Given the description of an element on the screen output the (x, y) to click on. 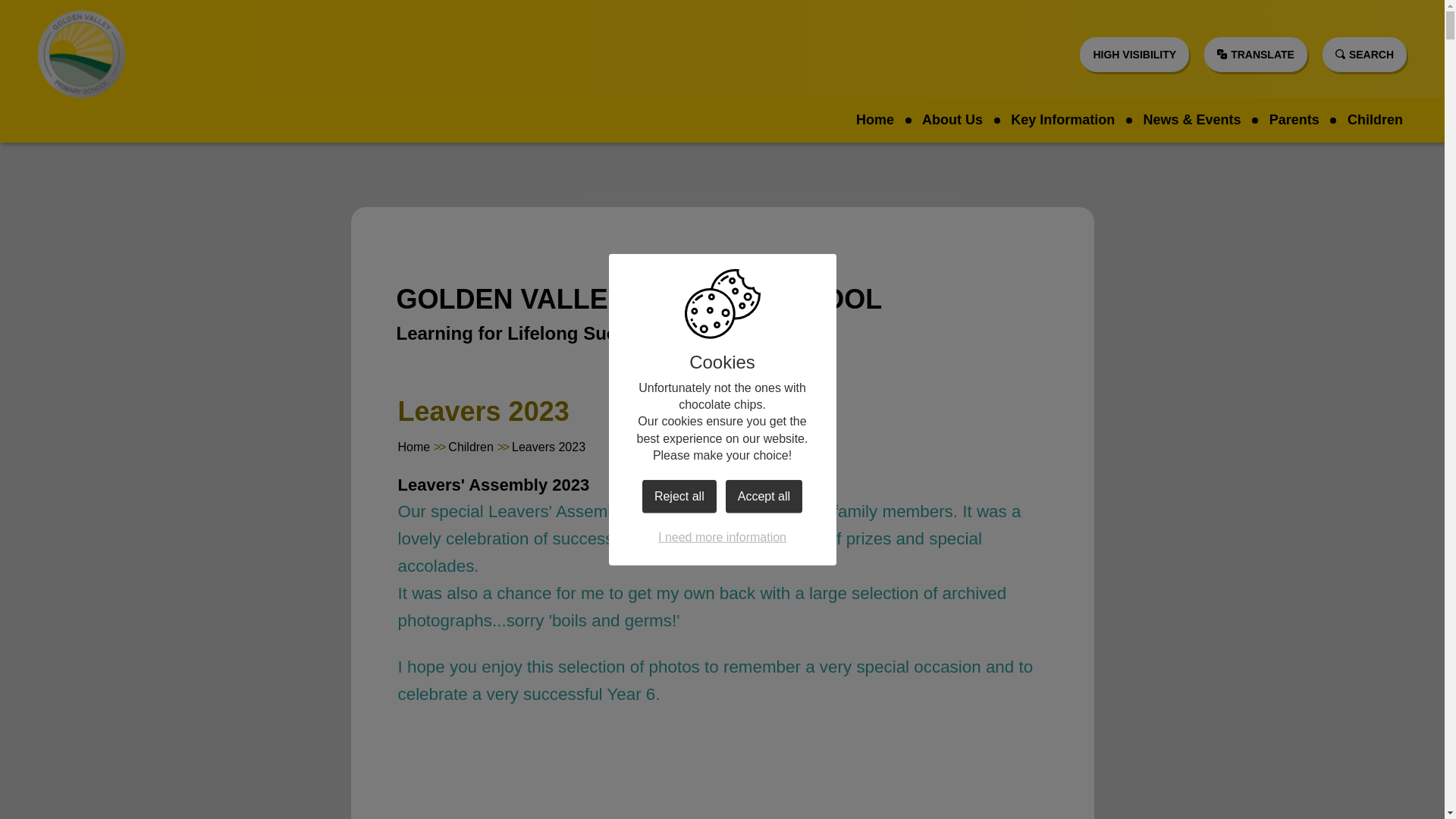
About Us (952, 120)
Home (874, 120)
Home Page (81, 53)
Key Information (1062, 120)
SEARCH (1364, 53)
HIGH VISIBILITY (1134, 53)
TRANSLATE (1255, 53)
